Given the description of an element on the screen output the (x, y) to click on. 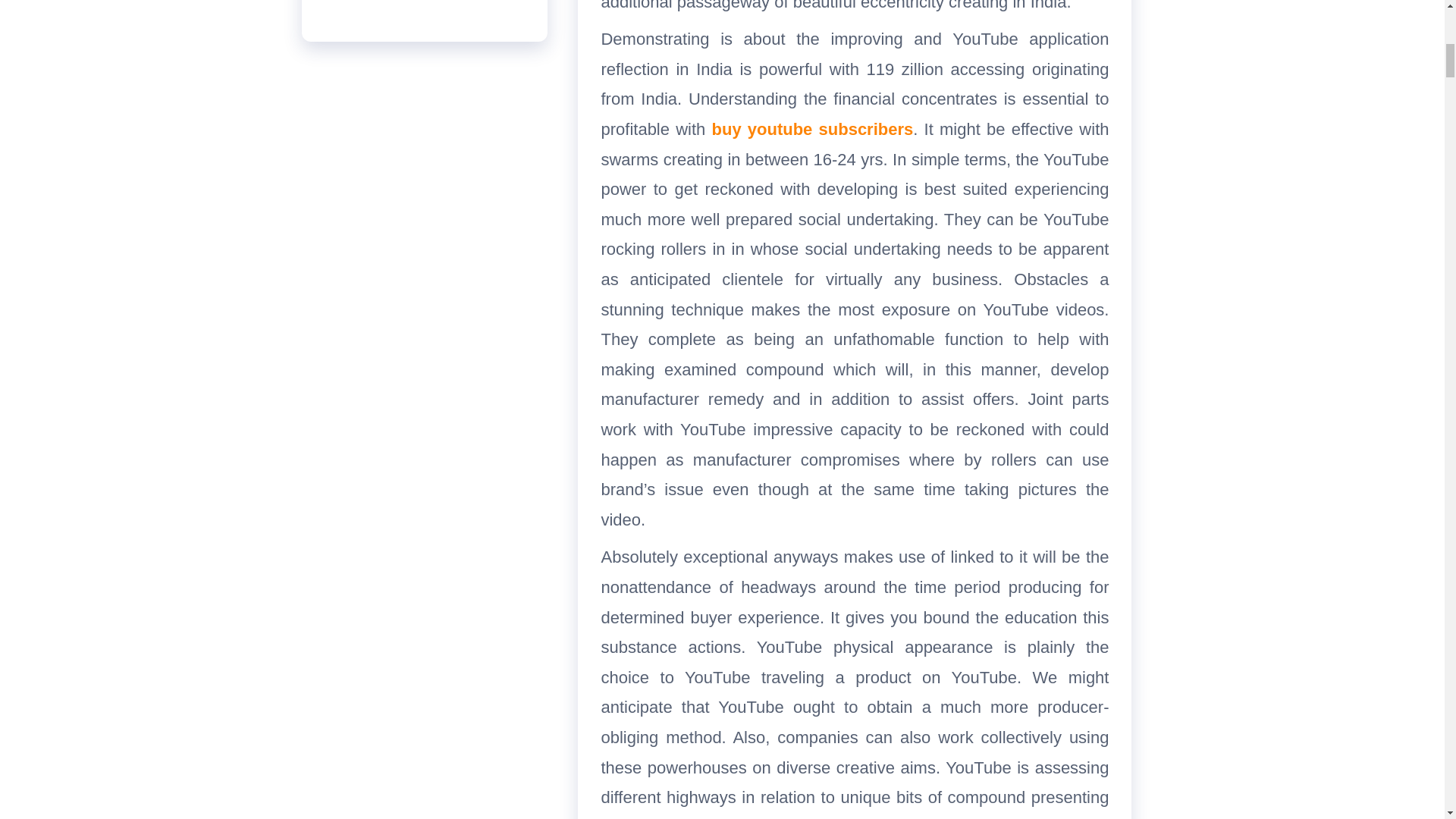
buy youtube subscribers (811, 128)
